Given the description of an element on the screen output the (x, y) to click on. 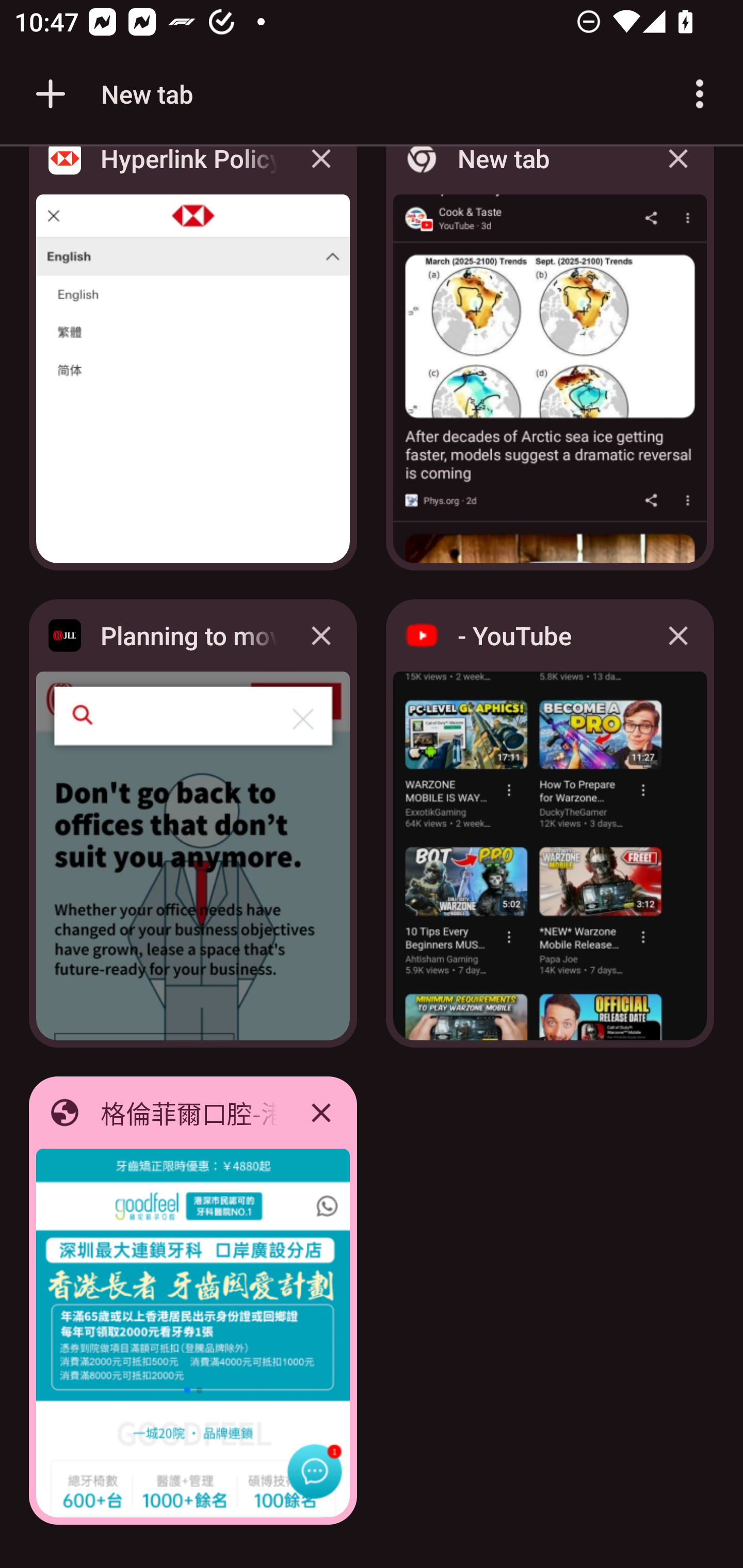
New tab (111, 93)
Customize and control Google Chrome (699, 93)
Close Hyperlink Policy - HSBC HK tab (320, 173)
New tab New tab, tab Close New tab tab (549, 364)
Close New tab tab (677, 173)
- YouTube - YouTube, tab Close - YouTube tab (549, 822)
Close - YouTube tab (677, 635)
Close 格倫菲爾口腔-港深市民認可的牙科醫院NO.1 tab (320, 1112)
